Given the description of an element on the screen output the (x, y) to click on. 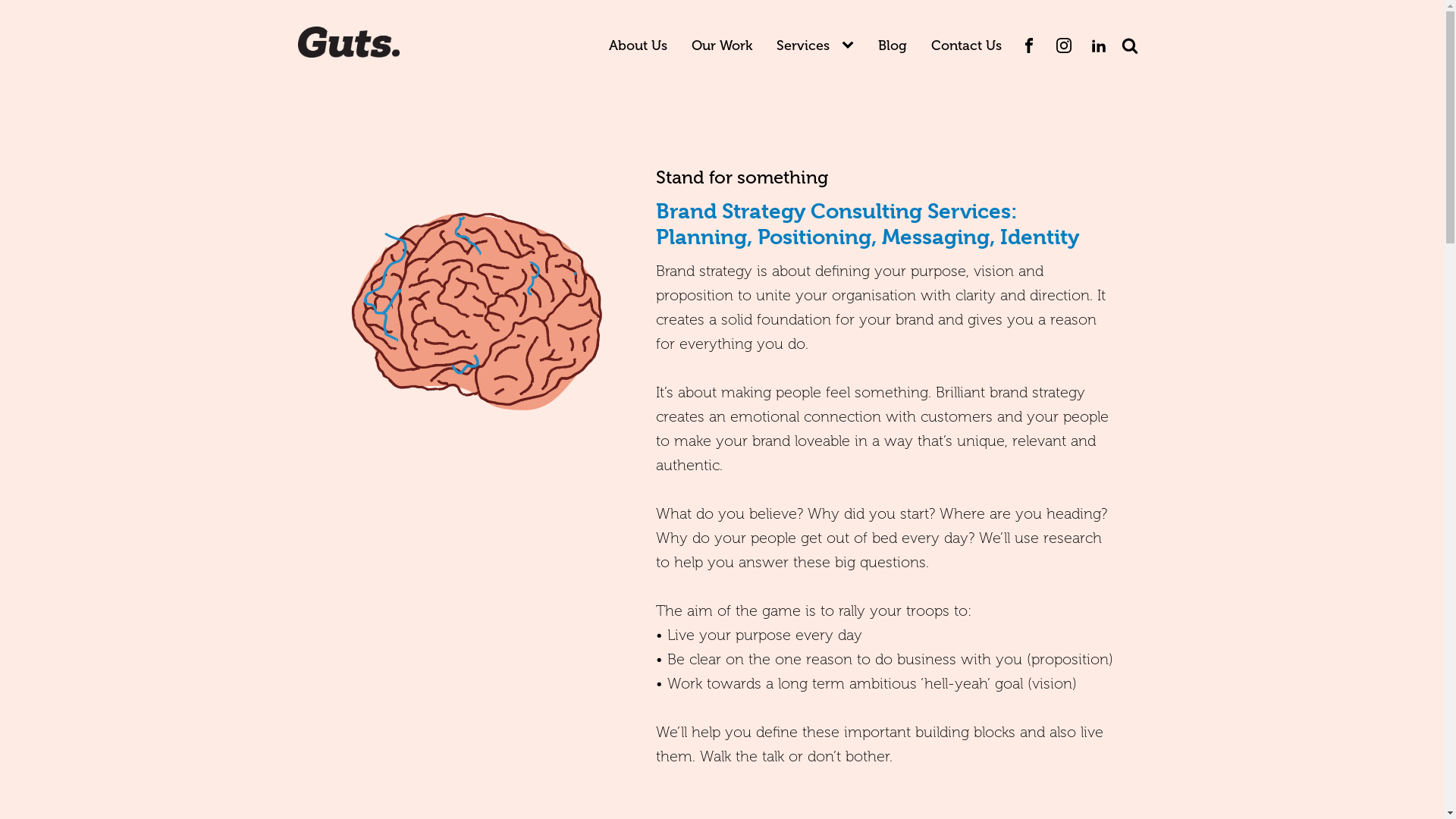
Our Work Element type: text (721, 45)
Blog Element type: text (892, 45)
Contact Us Element type: text (966, 45)
About Us Element type: text (637, 45)
Services Element type: text (802, 45)
